Given the description of an element on the screen output the (x, y) to click on. 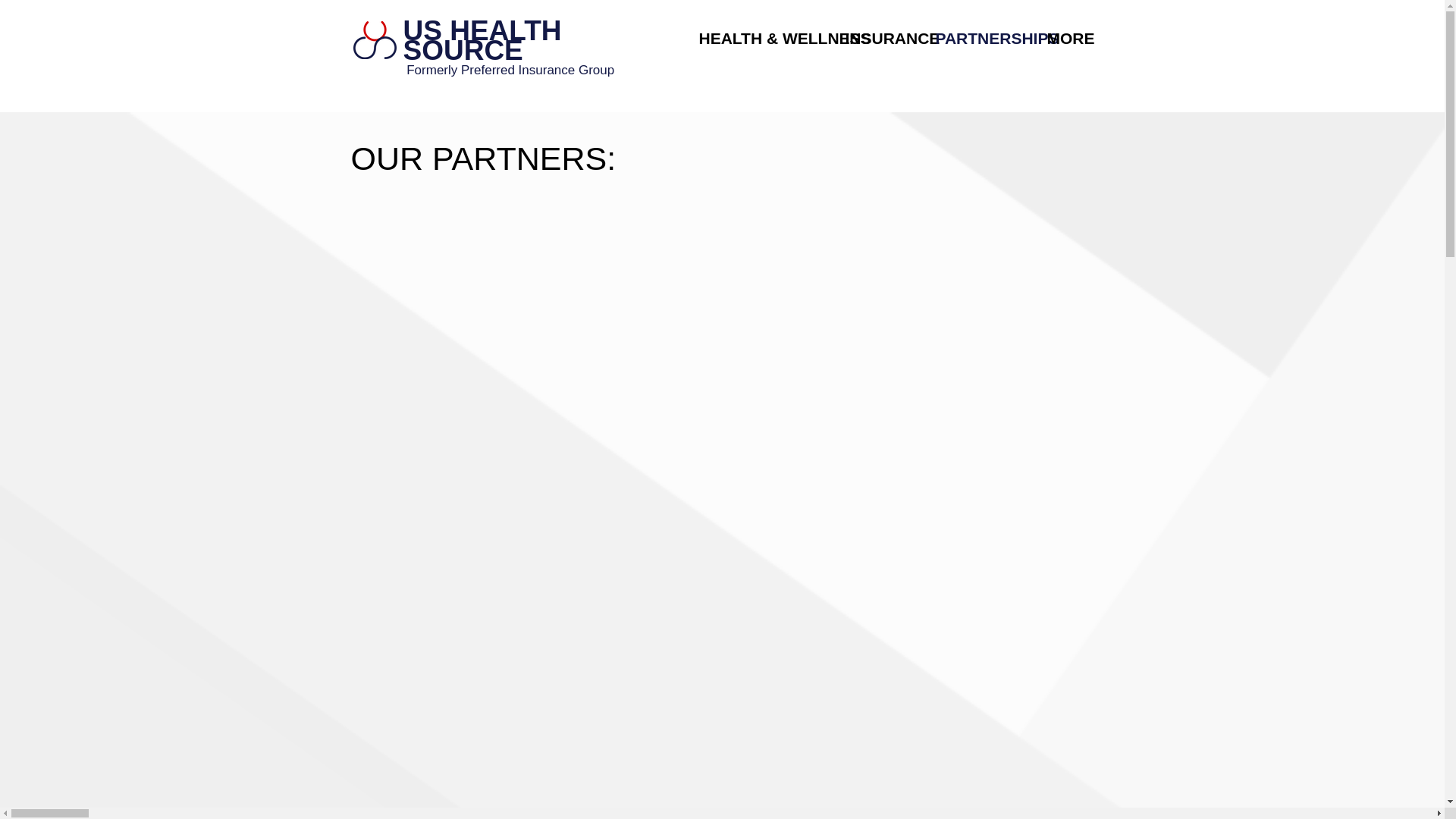
INSURANCE (879, 38)
PARTNERSHIPS (979, 38)
